Given the description of an element on the screen output the (x, y) to click on. 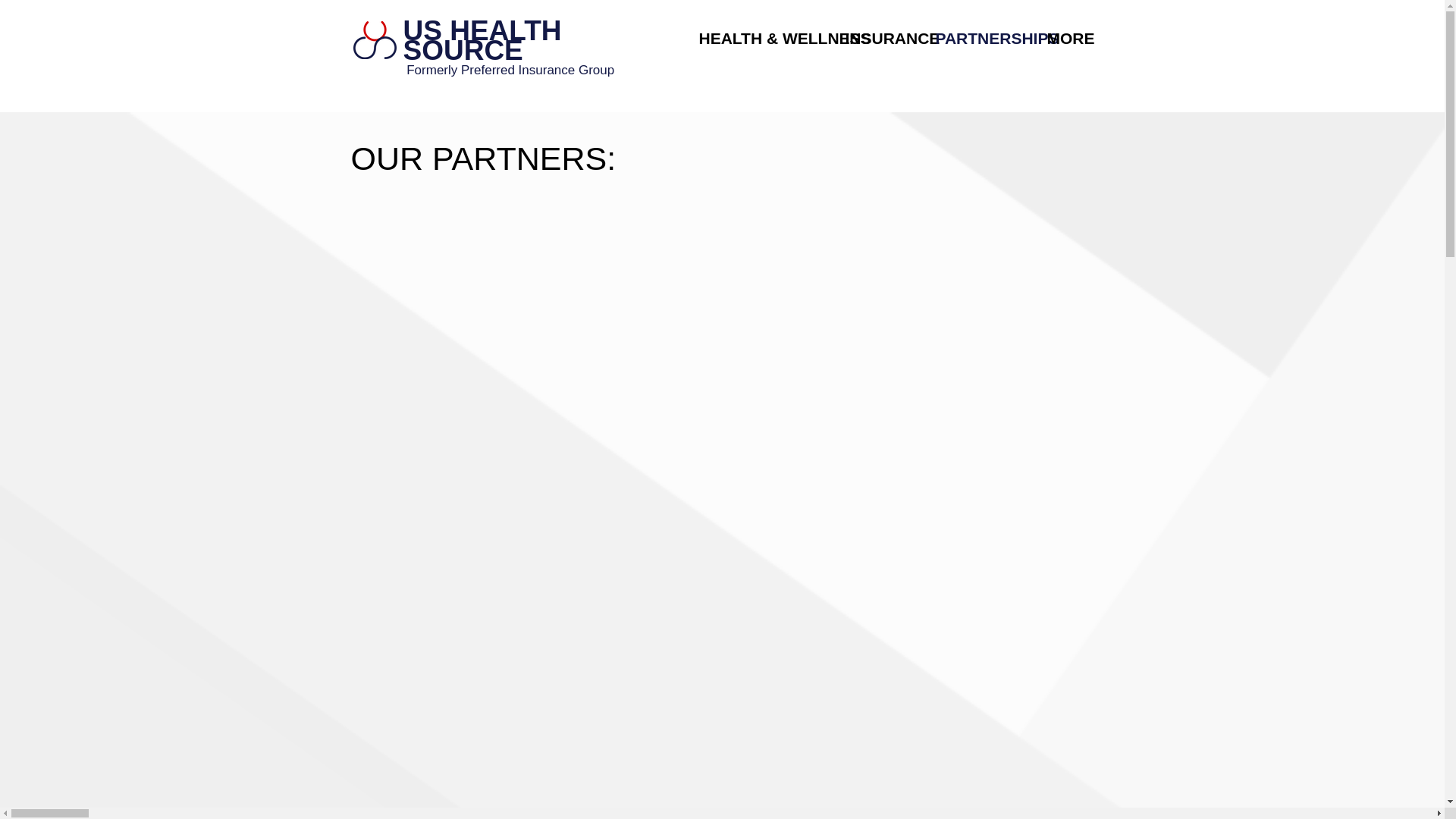
INSURANCE (879, 38)
PARTNERSHIPS (979, 38)
